Given the description of an element on the screen output the (x, y) to click on. 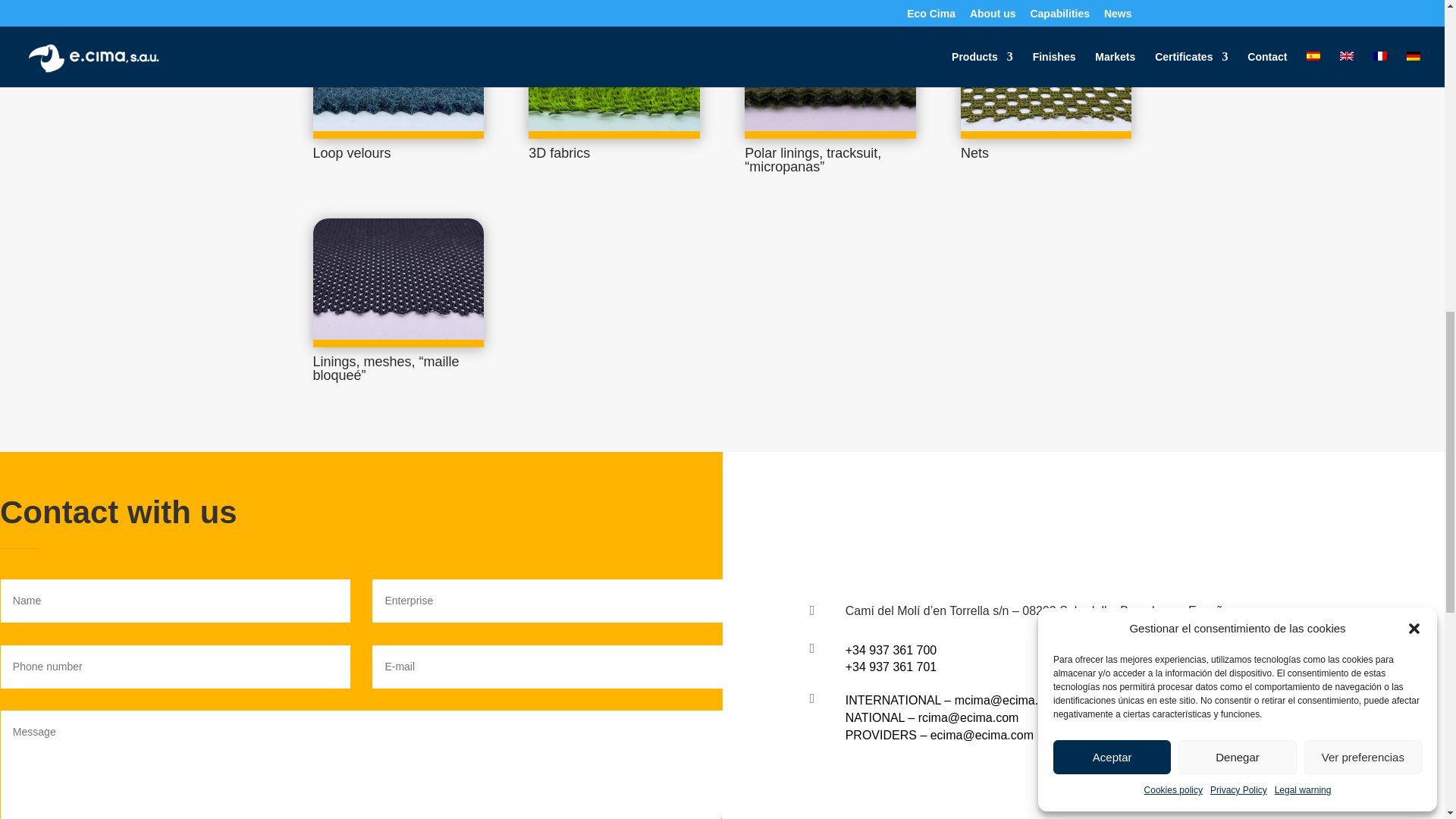
Only numbers allowed. (175, 666)
Loop velours (398, 73)
Loop velours (351, 152)
Nets (1045, 73)
3D fabrics (613, 73)
3D fabrics (558, 152)
Nets (974, 152)
